Given the description of an element on the screen output the (x, y) to click on. 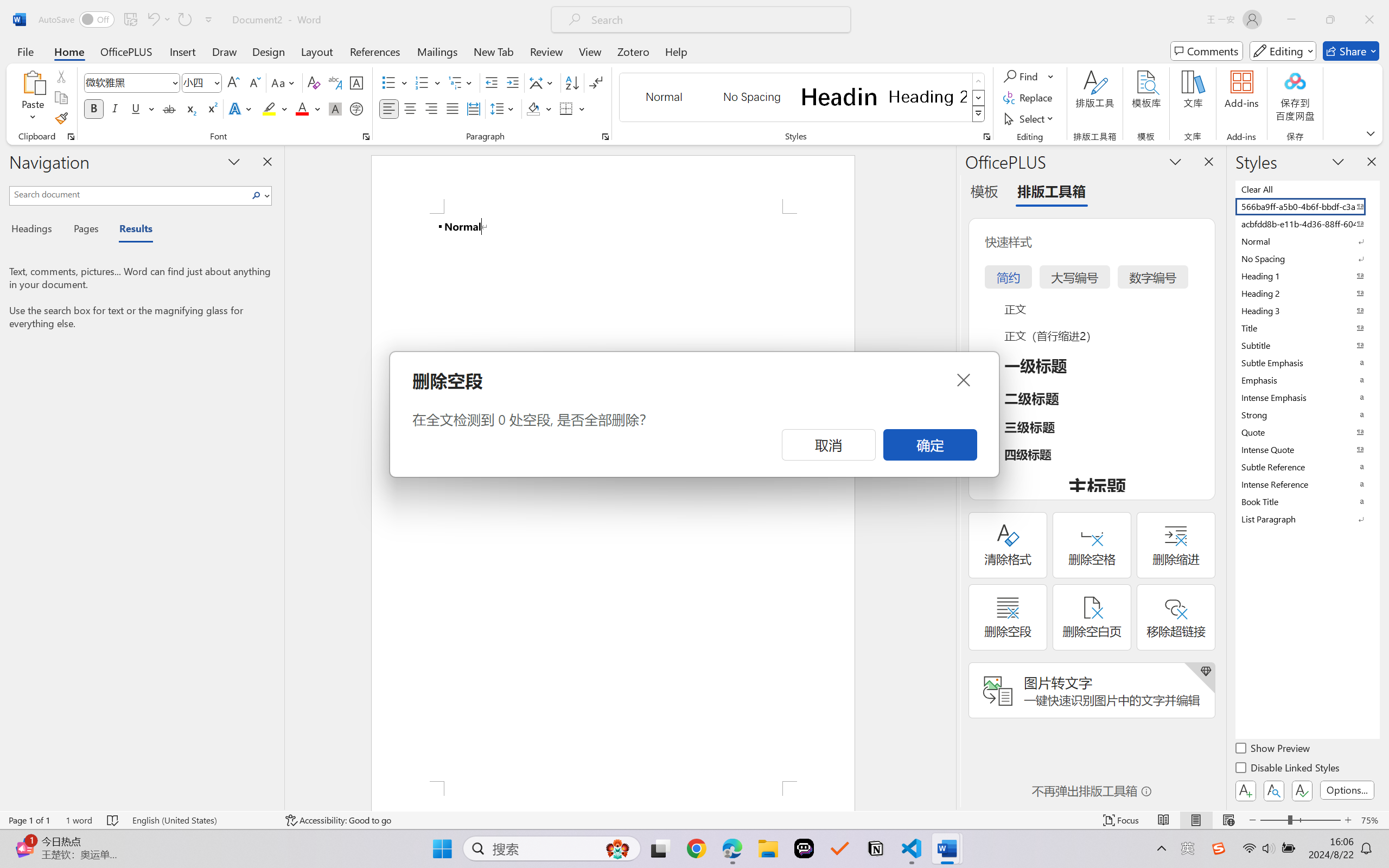
Ribbon Display Options (1370, 132)
Strong (1306, 414)
Book Title (1306, 501)
Zoom (1300, 819)
Results (130, 229)
Multilevel List (461, 82)
Font (126, 82)
